Given the description of an element on the screen output the (x, y) to click on. 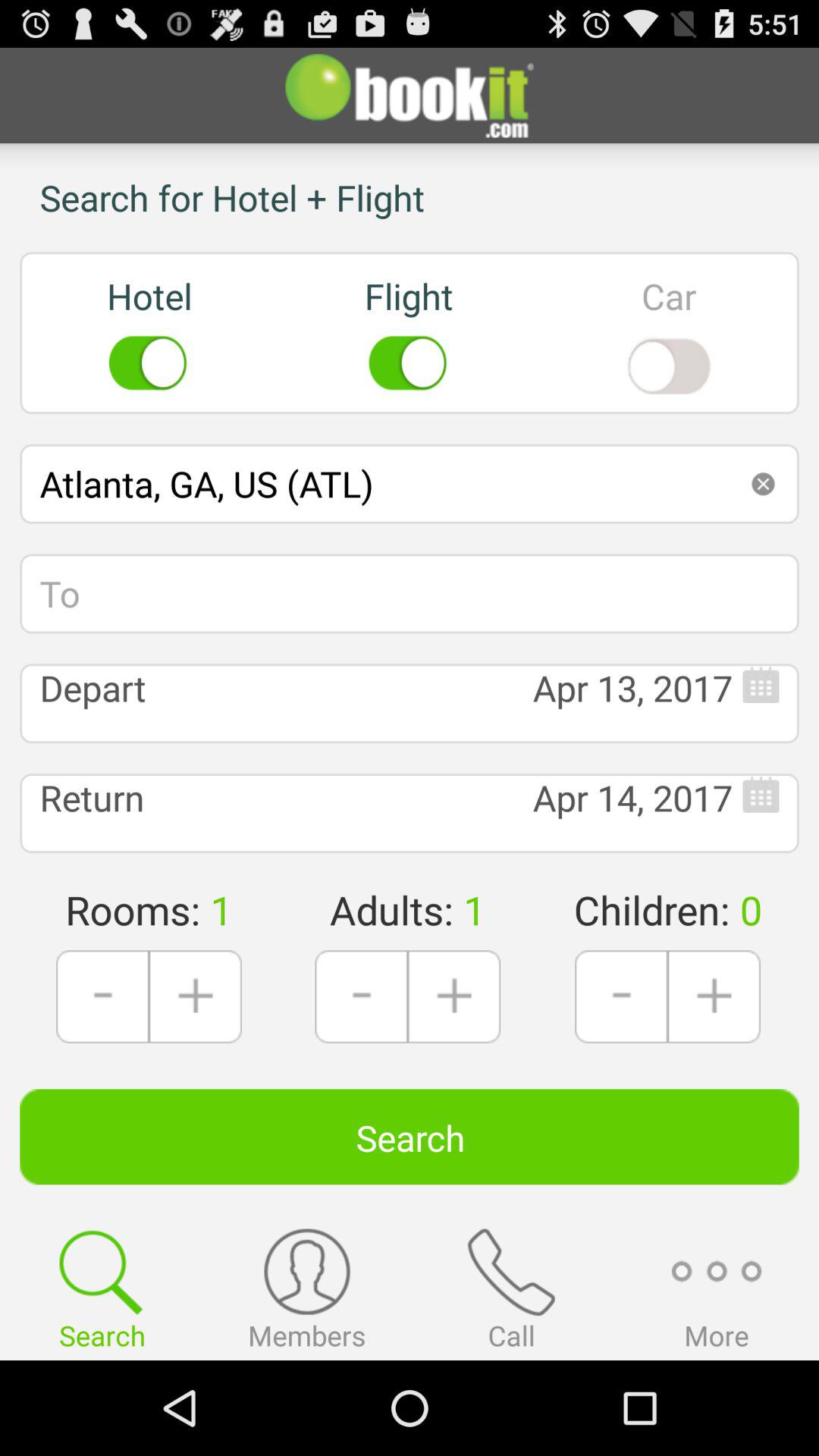
turn off the icon below the atlanta ga us icon (409, 593)
